Given the description of an element on the screen output the (x, y) to click on. 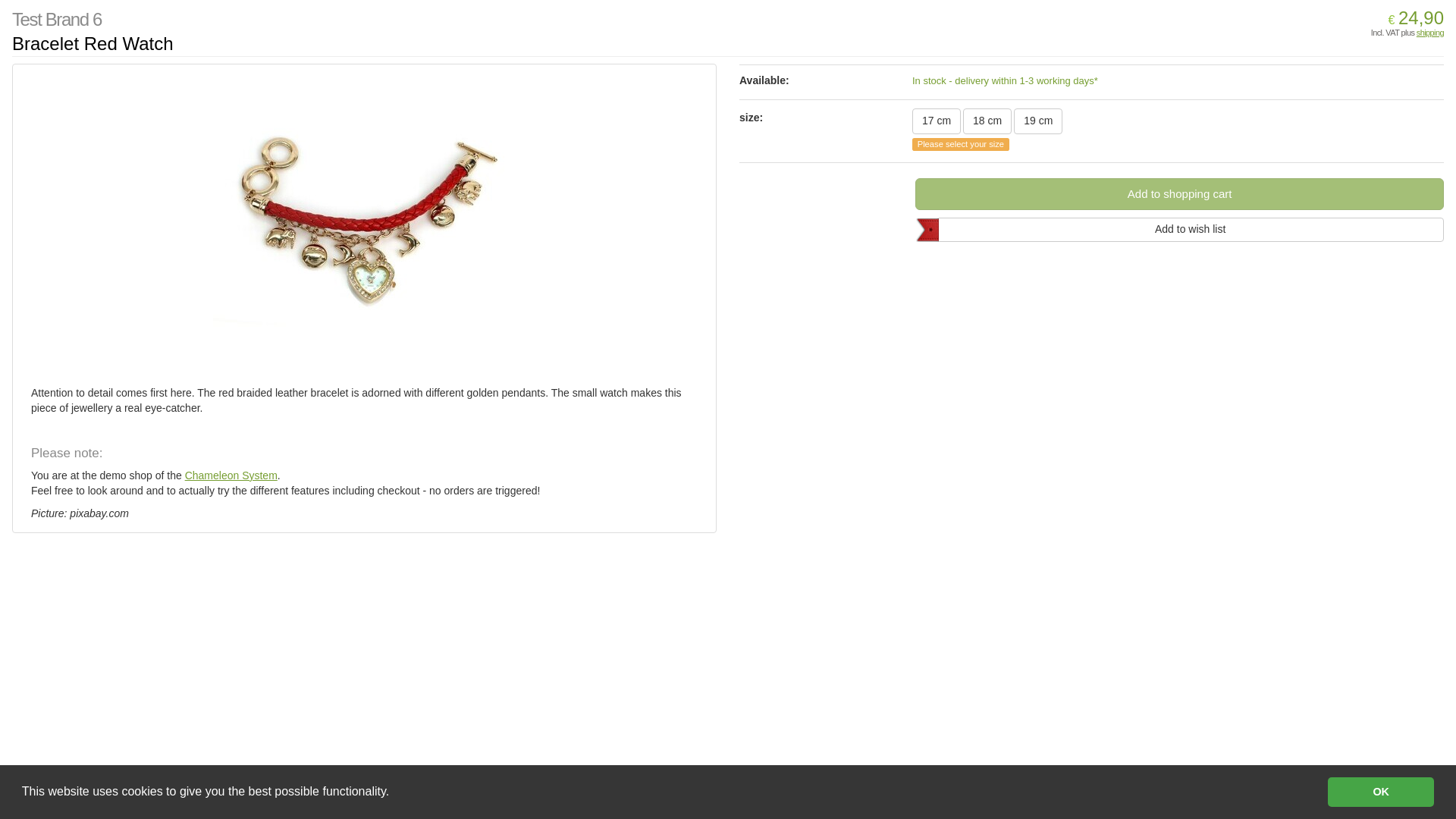
Add to shopping cart (1179, 193)
size 17 cm (936, 121)
size 18 cm (986, 121)
  Add to wish list (1190, 229)
size 19 cm (1037, 121)
Product information (1091, 113)
19 cm (1037, 121)
Chameleon System (231, 475)
18 cm (986, 121)
17 cm (936, 121)
shipping (1430, 31)
